Given the description of an element on the screen output the (x, y) to click on. 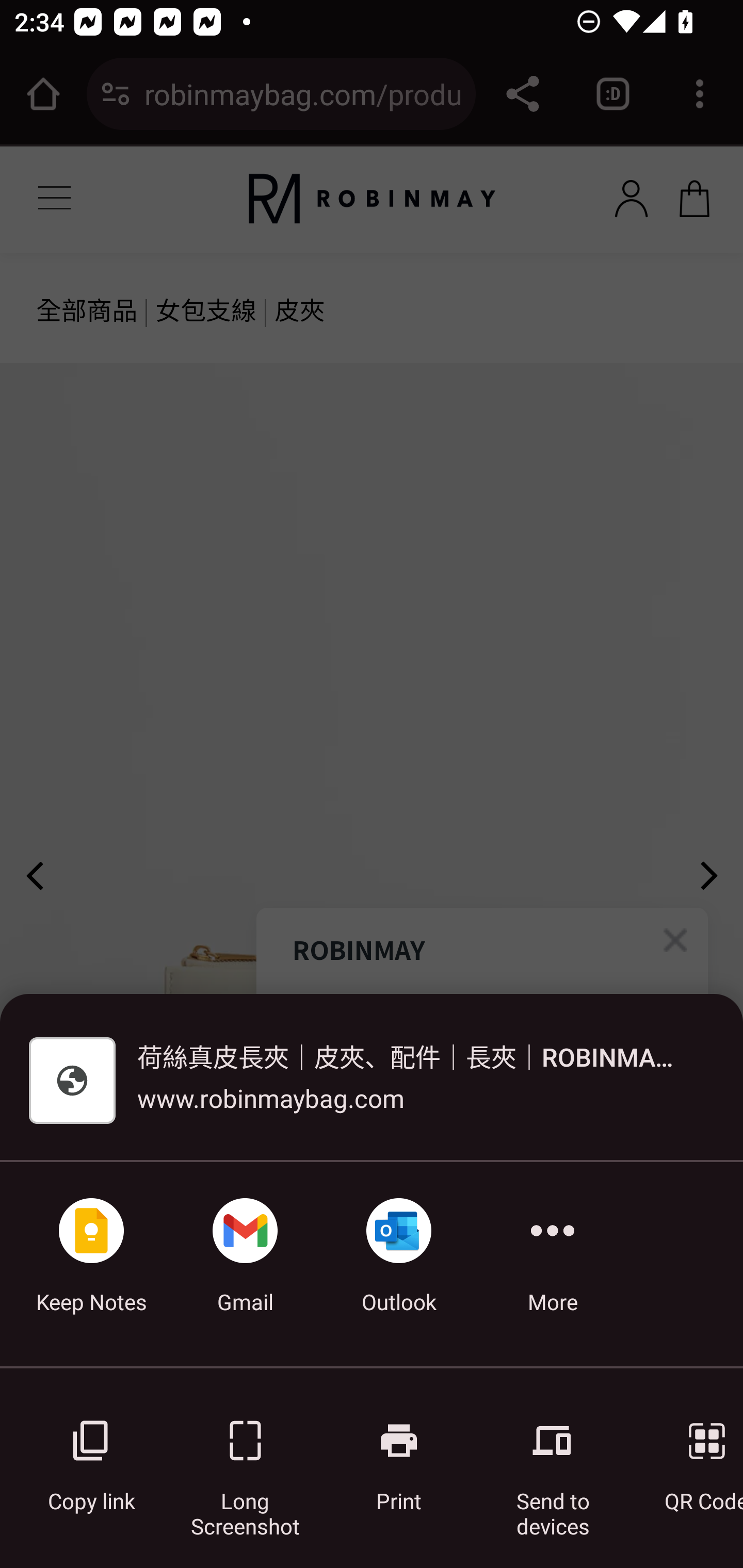
Open the home page (43, 93)
Connection is secure (115, 93)
Share (522, 93)
Switch or close tabs (612, 93)
Customize and control Google Chrome (699, 93)
Keep Notes (90, 1263)
Gmail (244, 1263)
Outlook (398, 1263)
More (552, 1263)
Copy link (90, 1454)
Long Screenshot (244, 1454)
Print (398, 1454)
Send to devices (552, 1454)
QR Code (693, 1454)
